Given the description of an element on the screen output the (x, y) to click on. 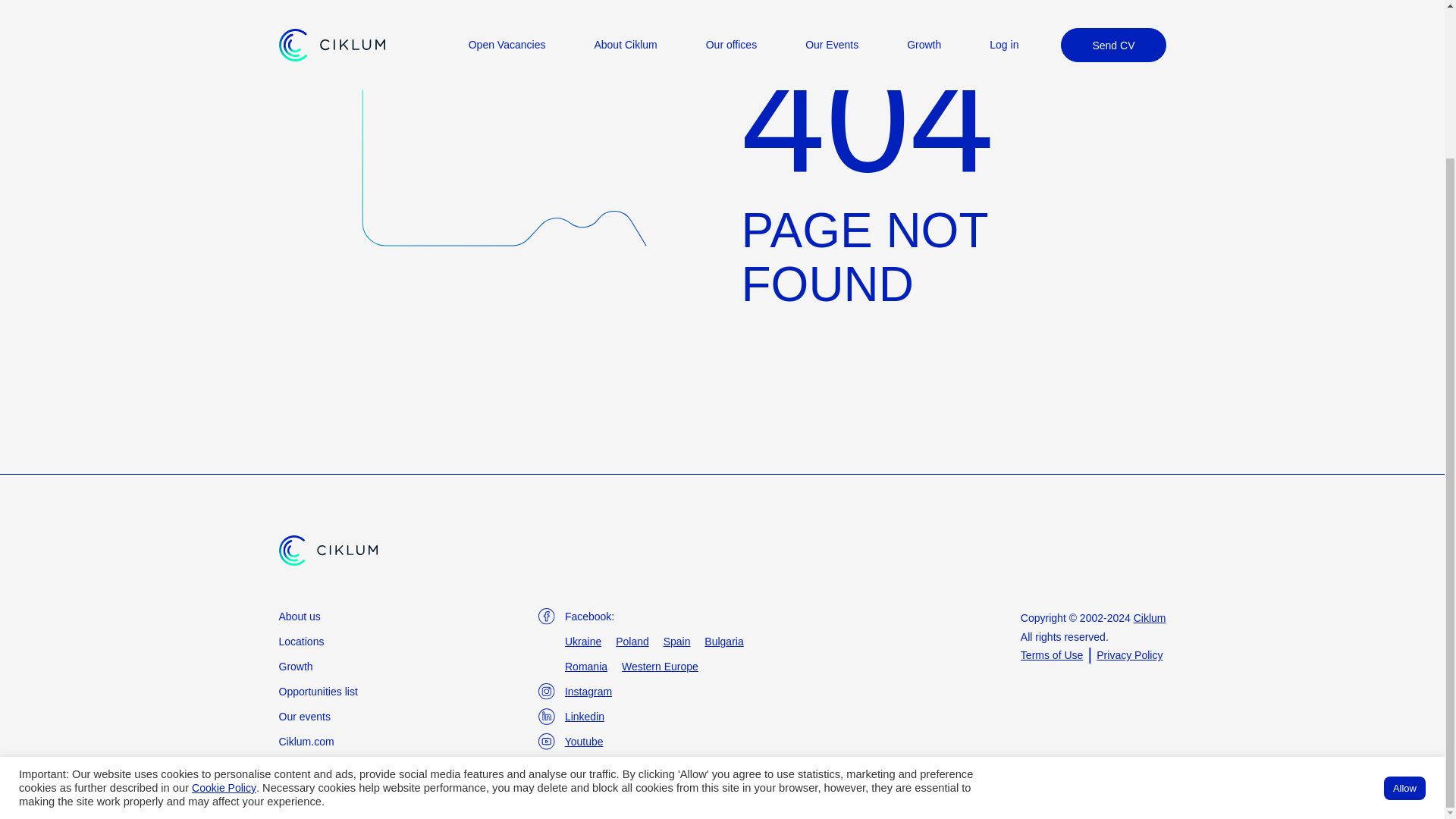
Opportunities list (318, 691)
Locations (301, 641)
Youtube (584, 741)
Terms of Use (1051, 654)
Western Europe (659, 666)
Allow (1404, 603)
Ukraine (582, 641)
About us (299, 616)
Spain (676, 641)
Cookie Policy (224, 603)
Growth (296, 666)
Privacy Policy (1128, 654)
Poland (632, 641)
Our events (304, 716)
Romania (585, 666)
